Given the description of an element on the screen output the (x, y) to click on. 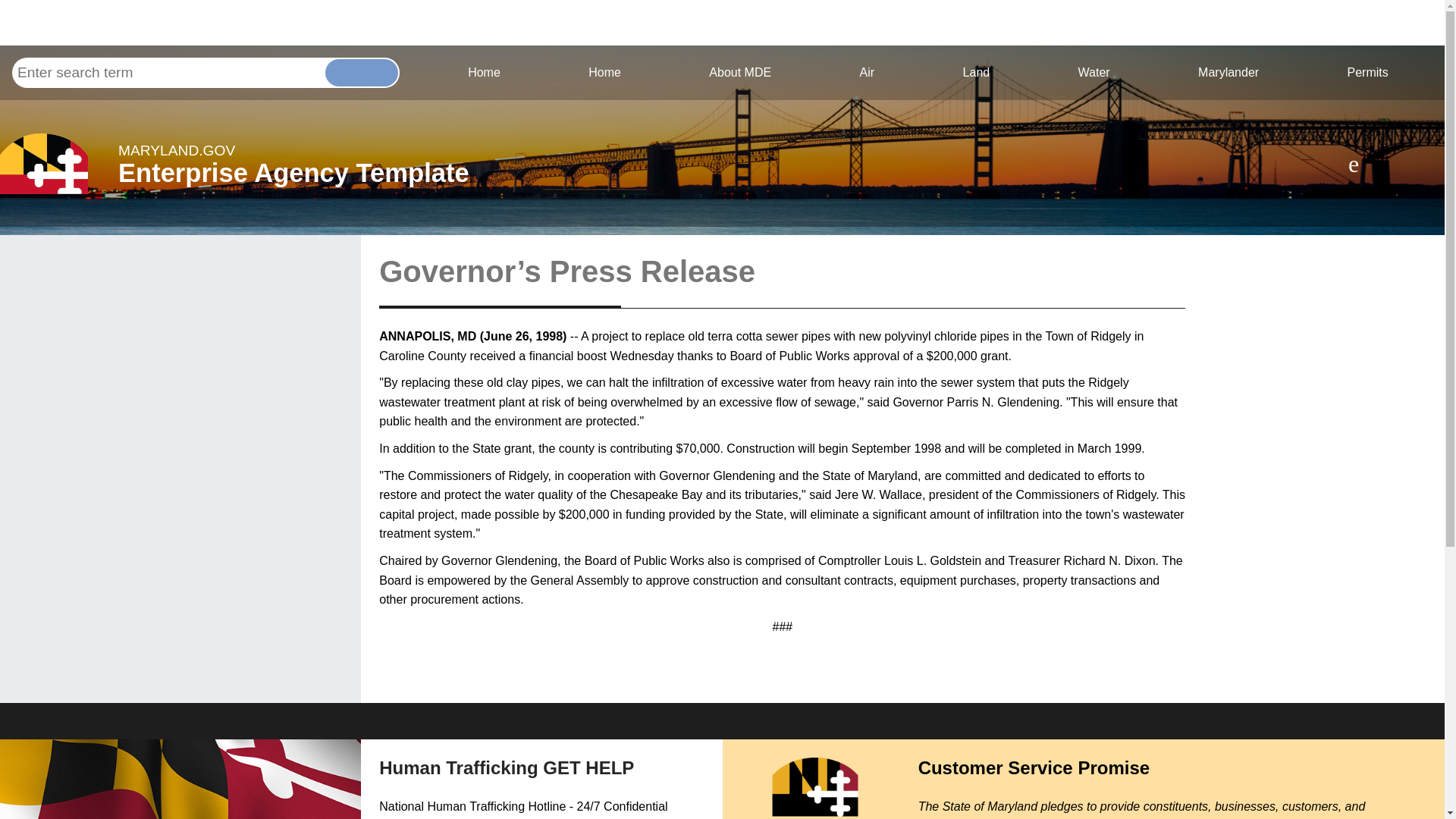
Marylander (292, 163)
Home (1228, 72)
About MDE (483, 72)
Land (740, 72)
Home (975, 72)
Skip to Content (604, 72)
Water (12, 57)
Air (1093, 72)
Permits (866, 72)
Search (1367, 72)
